Given the description of an element on the screen output the (x, y) to click on. 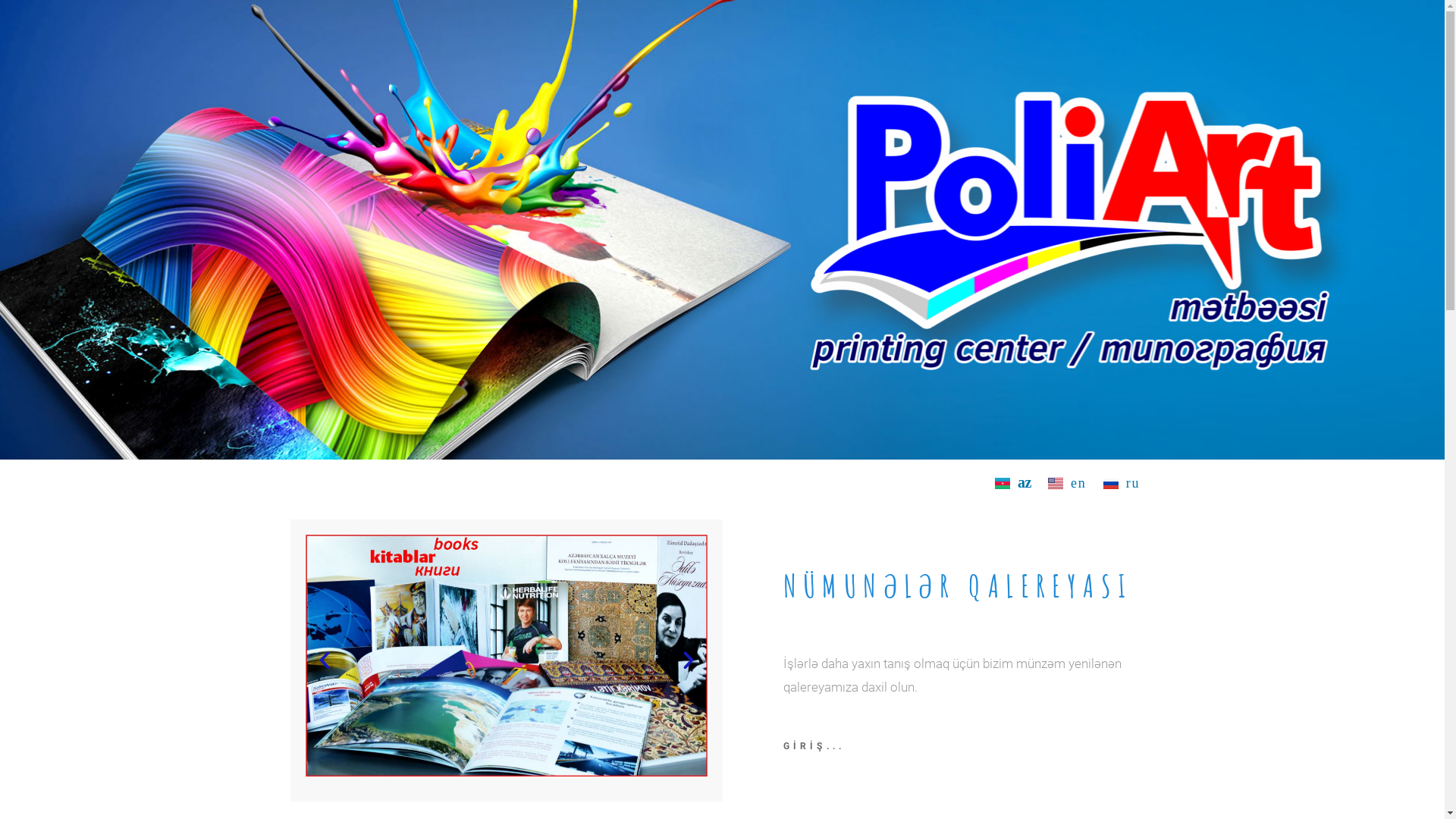
ru Element type: text (1121, 483)
az Element type: text (1013, 482)
en Element type: text (1067, 483)
